Given the description of an element on the screen output the (x, y) to click on. 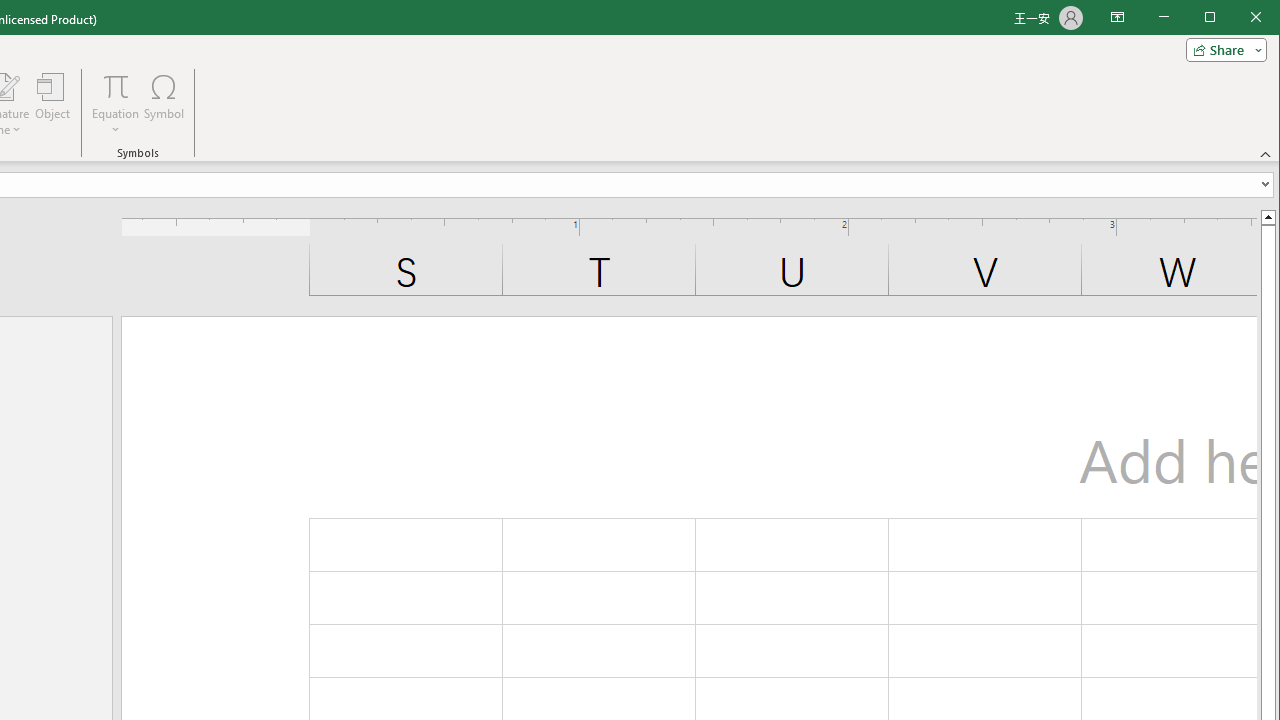
Maximize (1238, 18)
Object... (53, 104)
Equation (115, 104)
Symbol... (164, 104)
Equation (115, 86)
